Given the description of an element on the screen output the (x, y) to click on. 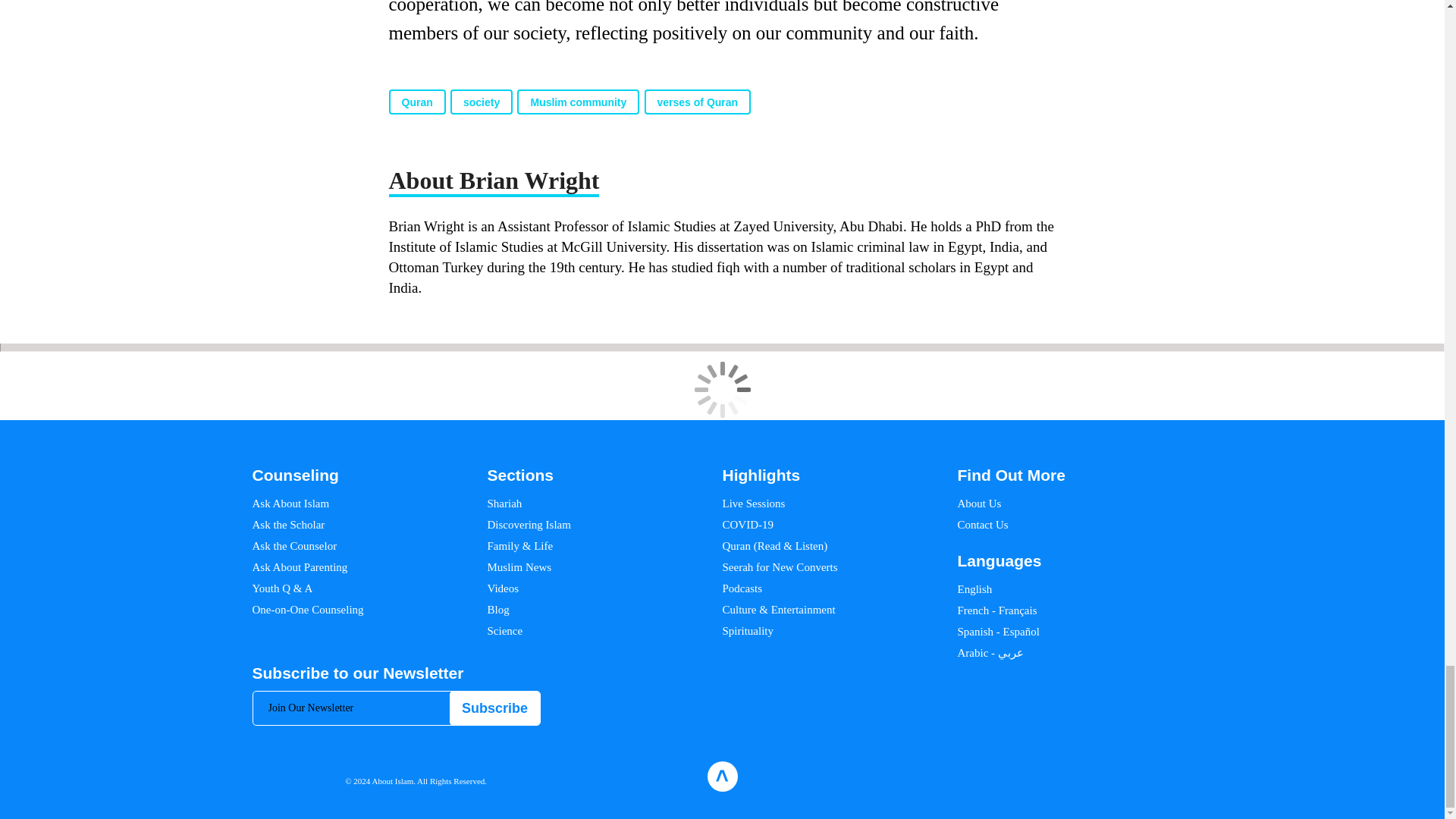
Ask the Counselor (293, 545)
society (480, 101)
Subscribe (494, 708)
Join Our Newsletter (396, 707)
Ask the Scholar (287, 524)
Quran Tag (416, 101)
youtube (1166, 777)
verses of Quran (698, 101)
social-1 (1195, 777)
Facebook (1045, 777)
googleplus (1139, 777)
verses of Quran Tag (698, 101)
Quran (416, 101)
Ask About Islam (290, 503)
Muslim community (577, 101)
